Given the description of an element on the screen output the (x, y) to click on. 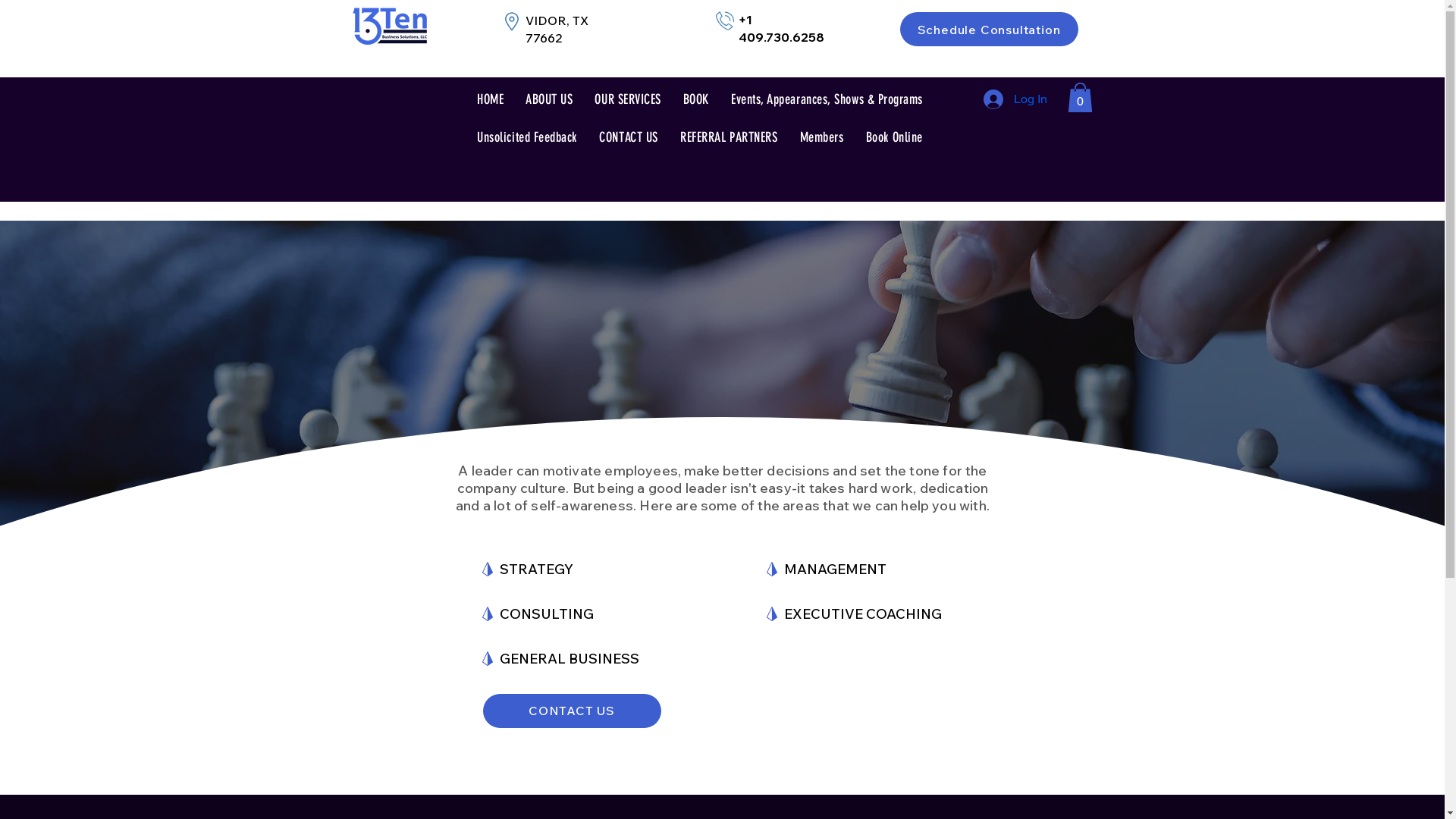
0 Element type: text (1079, 97)
Events, Appearances, Shows & Programs Element type: text (827, 99)
Log In Element type: text (1014, 98)
Book Online Element type: text (893, 137)
REFERRAL PARTNERS Element type: text (728, 137)
Unsolicited Feedback Element type: text (526, 137)
Members Element type: text (821, 137)
ABOUT US Element type: text (548, 99)
CONTACT US Element type: text (571, 710)
Schedule Consultation Element type: text (988, 29)
HOME Element type: text (489, 99)
CONTACT US Element type: text (628, 137)
